Given the description of an element on the screen output the (x, y) to click on. 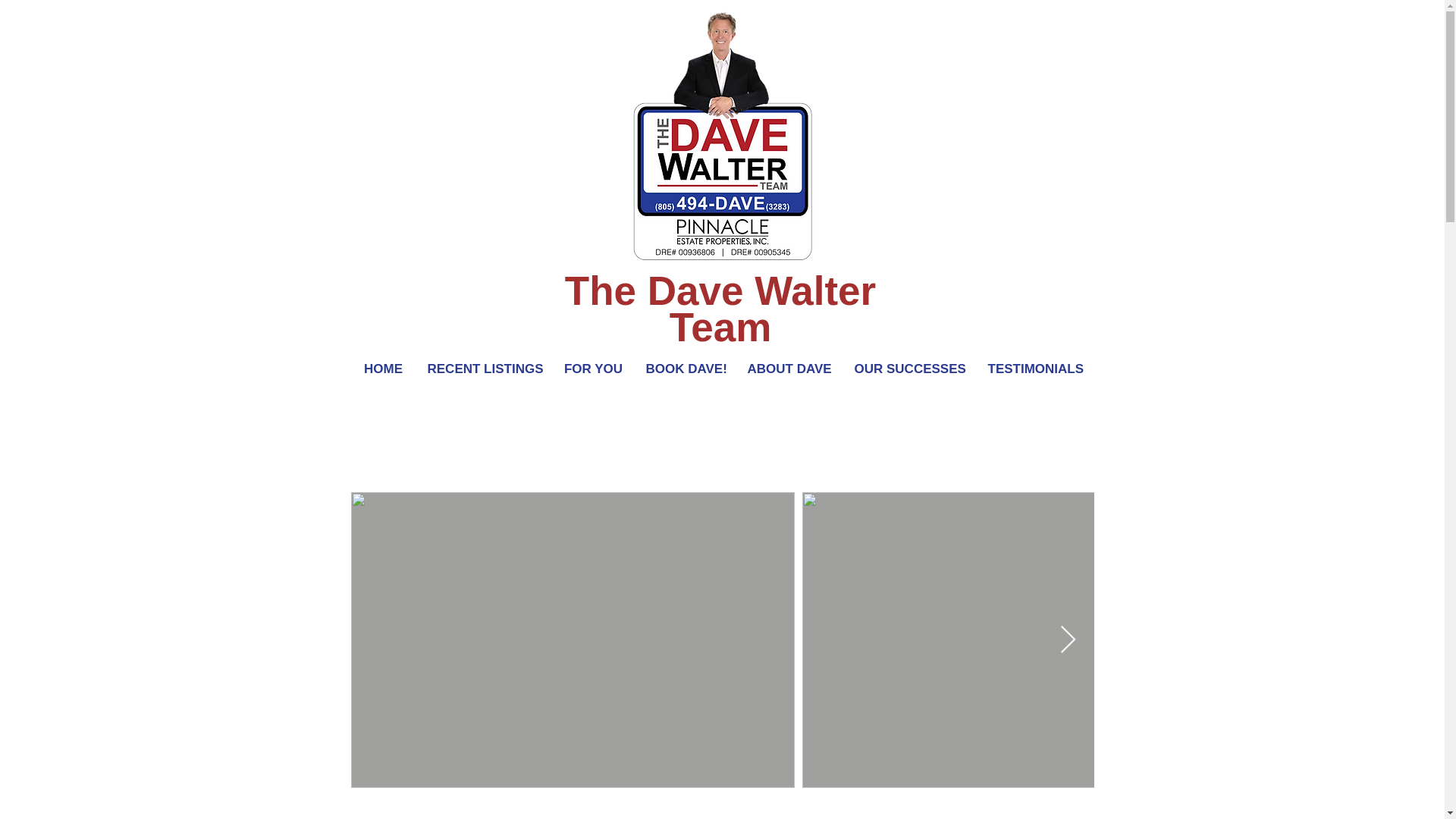
TESTIMONIALS (1035, 369)
RECENT LISTINGS (482, 369)
FOR YOU (592, 369)
ABOUT DAVE (789, 369)
OUR SUCCESSES (909, 369)
BOOK DAVE! (684, 369)
HOME (382, 369)
The Dave Walter Team (720, 308)
